Given the description of an element on the screen output the (x, y) to click on. 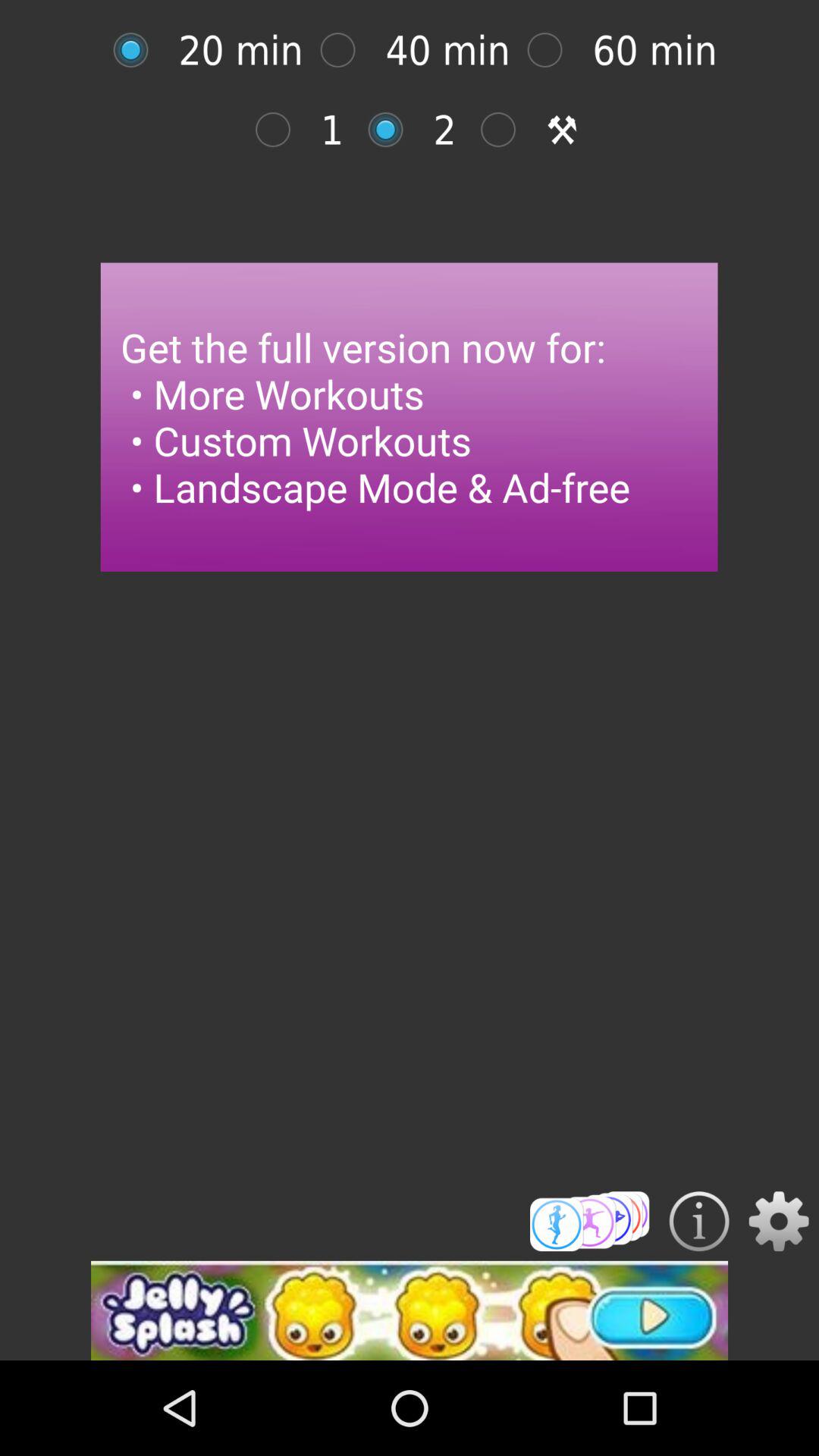
select 60 min (552, 49)
